Given the description of an element on the screen output the (x, y) to click on. 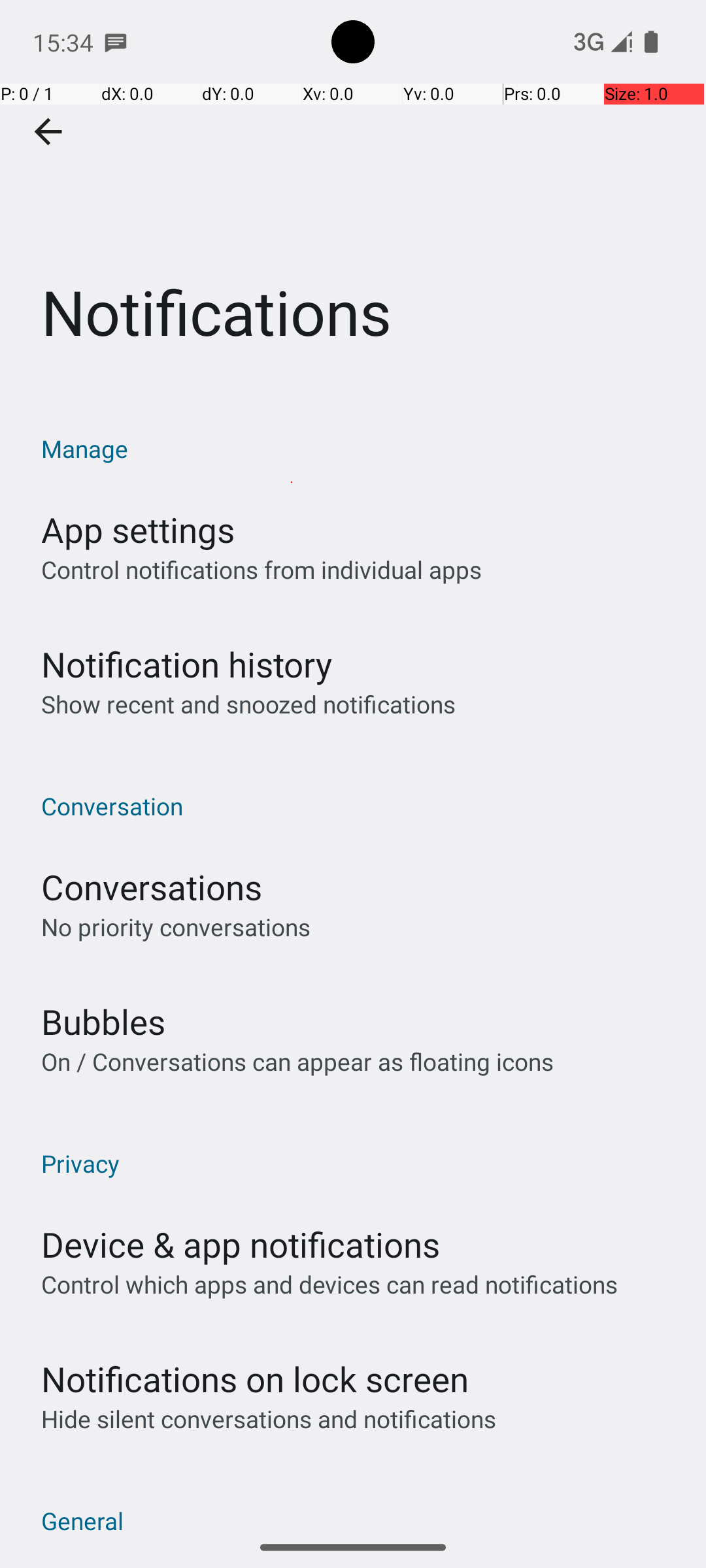
App settings Element type: android.widget.TextView (137, 529)
Control notifications from individual apps Element type: android.widget.TextView (261, 569)
Show recent and snoozed notifications Element type: android.widget.TextView (248, 703)
Conversation Element type: android.widget.TextView (359, 805)
No priority conversations Element type: android.widget.TextView (175, 926)
Bubbles Element type: android.widget.TextView (103, 1021)
On / Conversations can appear as floating icons Element type: android.widget.TextView (297, 1061)
Privacy Element type: android.widget.TextView (359, 1162)
Control which apps and devices can read notifications Element type: android.widget.TextView (329, 1283)
Hide silent conversations and notifications Element type: android.widget.TextView (268, 1418)
